Given the description of an element on the screen output the (x, y) to click on. 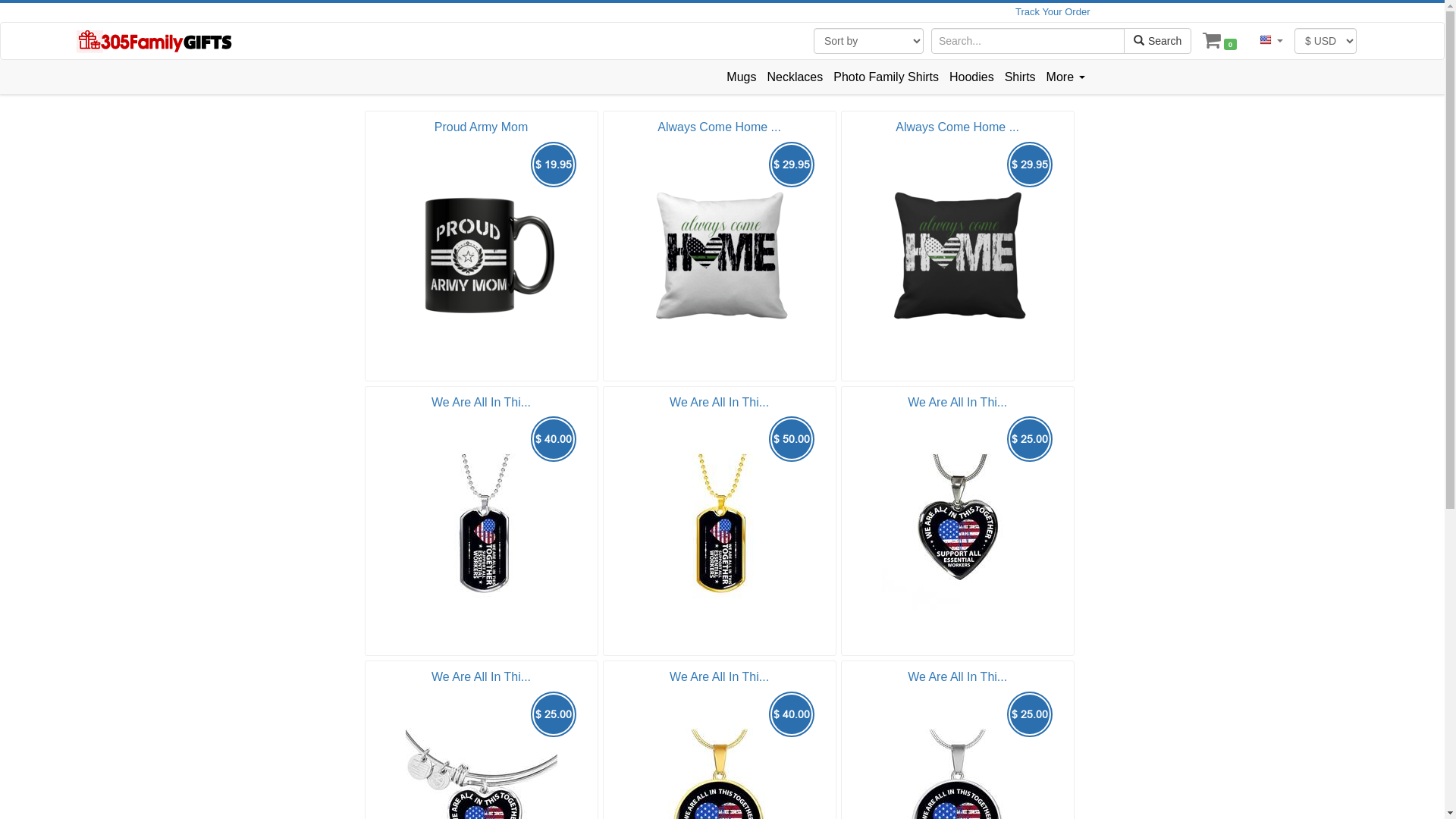
We Are All In Thi... Element type: text (718, 401)
Always Come Home ... Element type: text (719, 126)
Proud Army Mom Element type: text (481, 126)
Search Element type: text (1157, 40)
Always Come Home ... Element type: text (957, 126)
Hoodies Element type: text (971, 76)
$ 50.00 Element type: text (719, 529)
$ 19.95 Element type: text (480, 255)
Shirts Element type: text (1020, 76)
Photo Family Shirts Element type: text (886, 76)
$ 25.00 Element type: text (957, 529)
We Are All In Thi... Element type: text (957, 676)
$ 40.00 Element type: text (480, 529)
Mugs Element type: text (741, 76)
We Are All In Thi... Element type: text (718, 676)
More Element type: text (1065, 76)
Track Your Order Element type: text (1052, 11)
Necklaces Element type: text (794, 76)
We Are All In Thi... Element type: text (957, 401)
$ 29.95 Element type: text (719, 255)
We Are All In Thi... Element type: text (480, 401)
We Are All In Thi... Element type: text (480, 676)
0 Element type: text (1219, 40)
$ 29.95 Element type: text (957, 255)
